Given the description of an element on the screen output the (x, y) to click on. 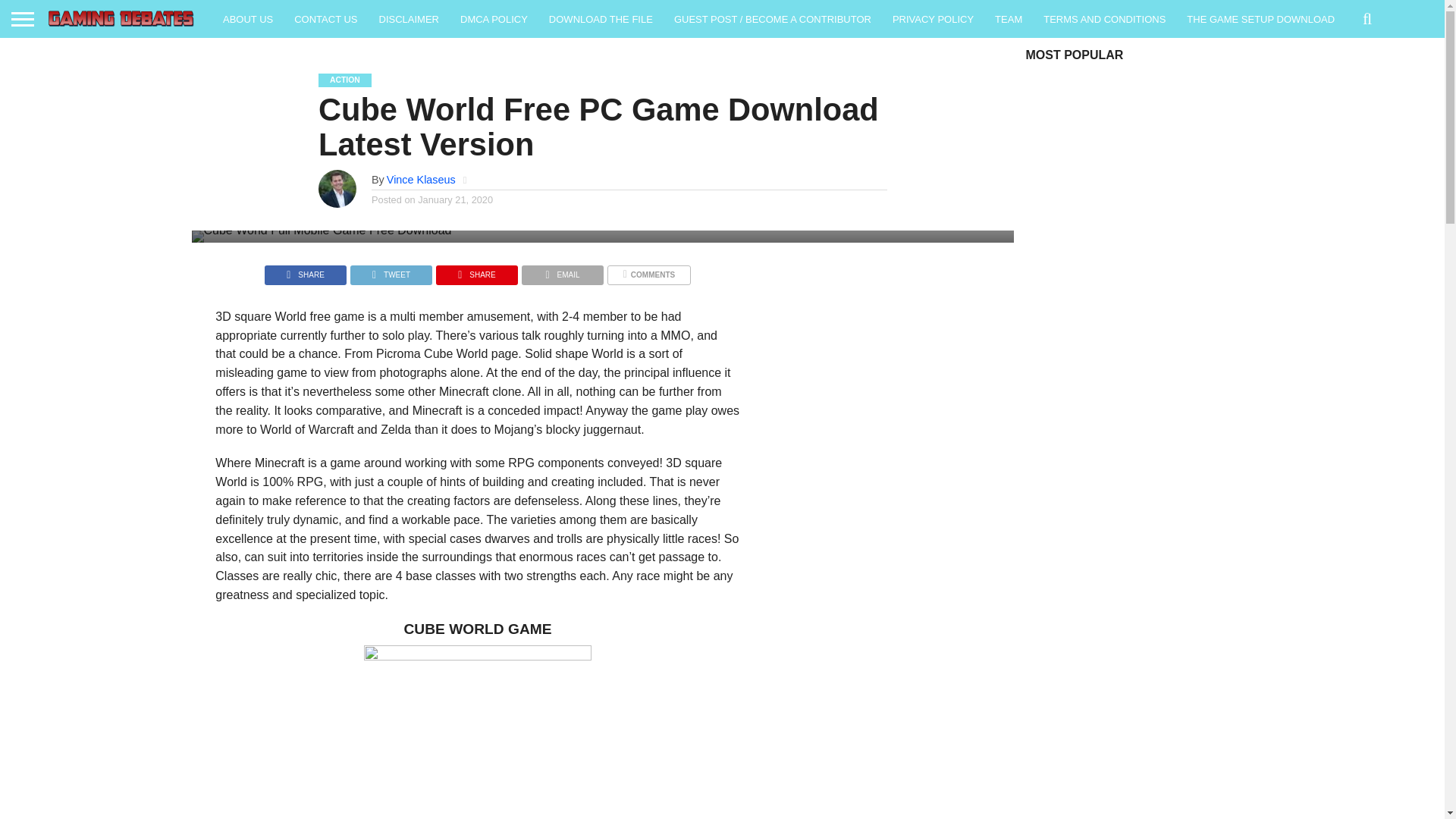
Share on Facebook (305, 270)
DISCLAIMER (408, 18)
Tweet This Post (390, 270)
THE GAME SETUP DOWNLOAD (1260, 18)
DOWNLOAD THE FILE (600, 18)
Pin This Post (476, 270)
CONTACT US (325, 18)
ABOUT US (247, 18)
Posts by Vince Klaseus (421, 179)
DMCA POLICY (493, 18)
